Given the description of an element on the screen output the (x, y) to click on. 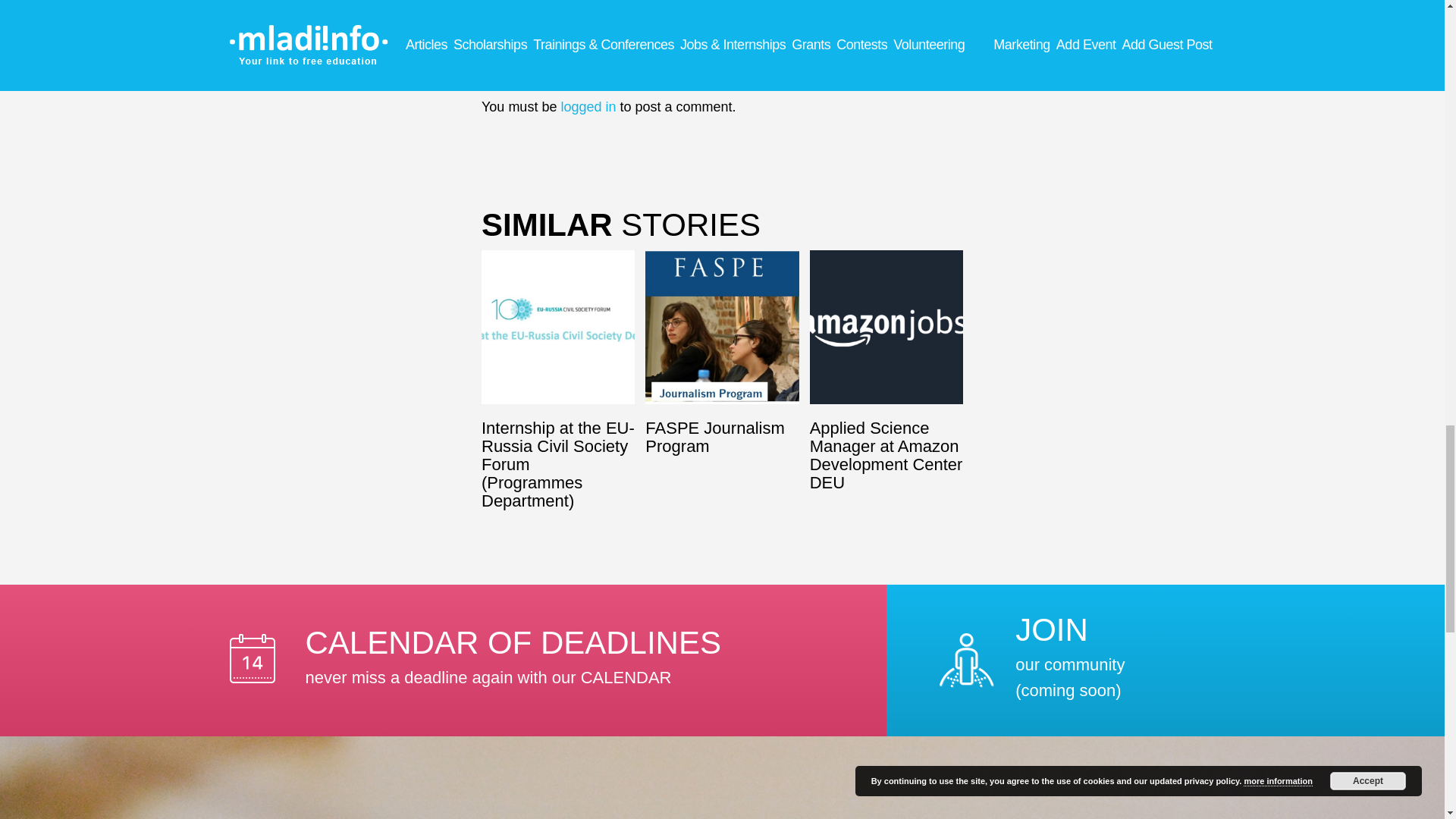
logged in (587, 105)
